Given the description of an element on the screen output the (x, y) to click on. 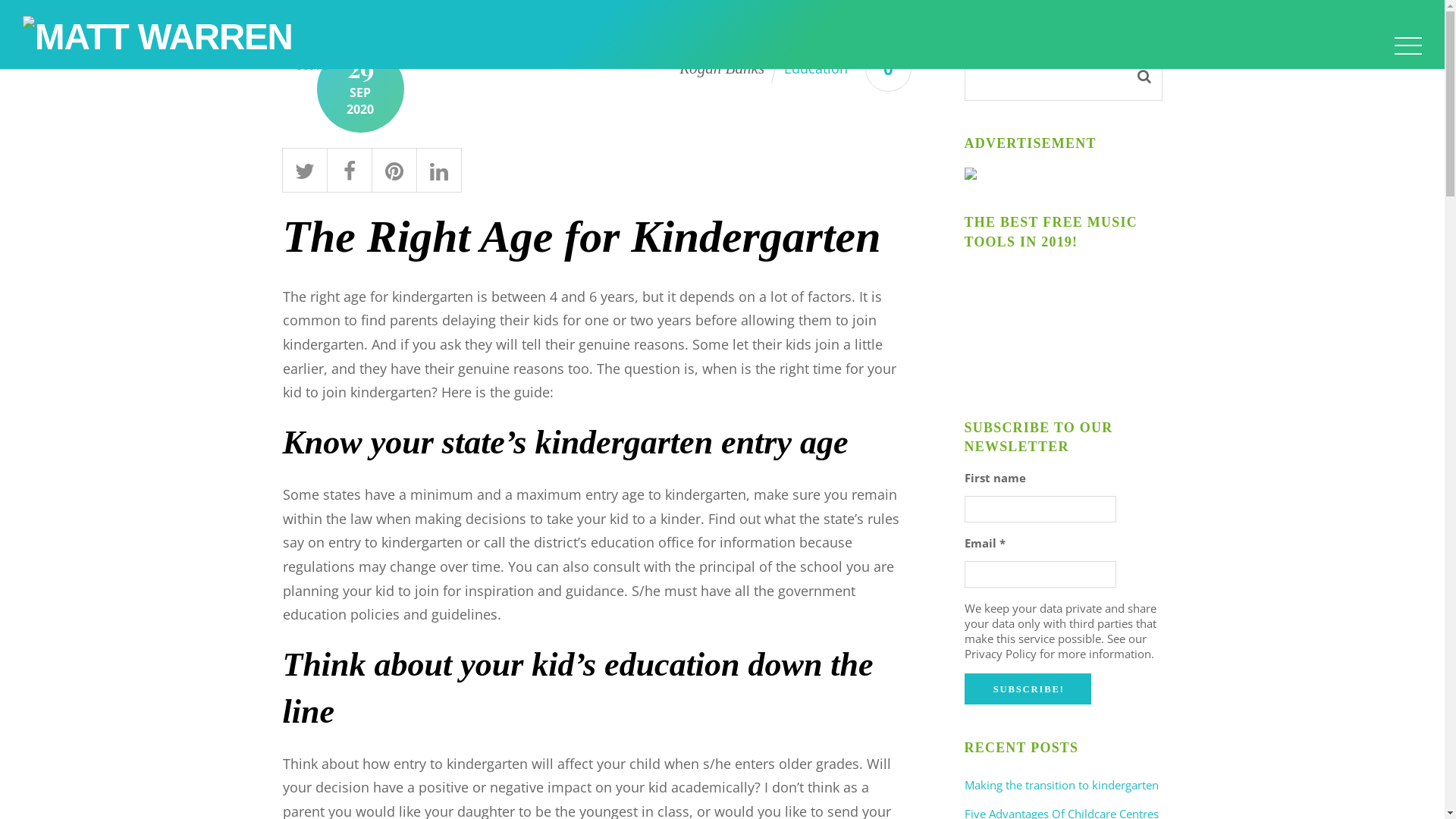
Email Element type: hover (1040, 574)
First name Element type: hover (1040, 508)
Twitter Element type: hover (304, 167)
The Right Age for Kindergarten Element type: text (581, 236)
Matt Warren Element type: hover (157, 36)
Making the transition to kindergarten Element type: text (1061, 784)
Education Element type: text (815, 68)
Subscribe! Element type: text (1028, 688)
Search Element type: hover (1063, 76)
Pinterest Element type: hover (394, 167)
Matt Warren Element type: hover (157, 36)
0 Element type: text (888, 68)
Rogan Banks Element type: text (721, 67)
Facebook Element type: hover (348, 167)
LinkedIn Element type: hover (438, 167)
